Given the description of an element on the screen output the (x, y) to click on. 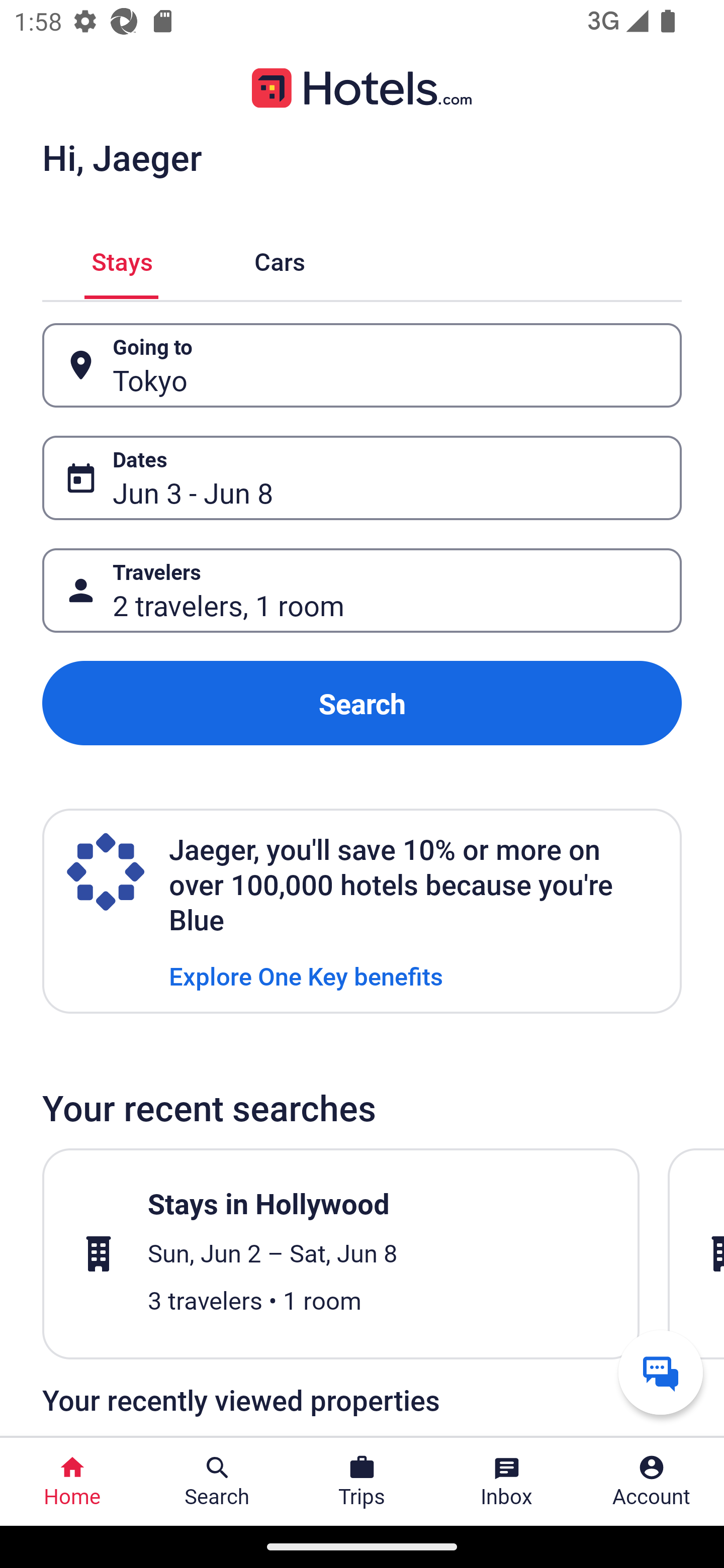
Hi, Jaeger (121, 156)
Cars (279, 259)
Going to Button Tokyo (361, 365)
Dates Button Jun 3 - Jun 8 (361, 477)
Travelers Button 2 travelers, 1 room (361, 590)
Search (361, 702)
Get help from a virtual agent (660, 1371)
Search Search Button (216, 1481)
Trips Trips Button (361, 1481)
Inbox Inbox Button (506, 1481)
Account Profile. Button (651, 1481)
